Given the description of an element on the screen output the (x, y) to click on. 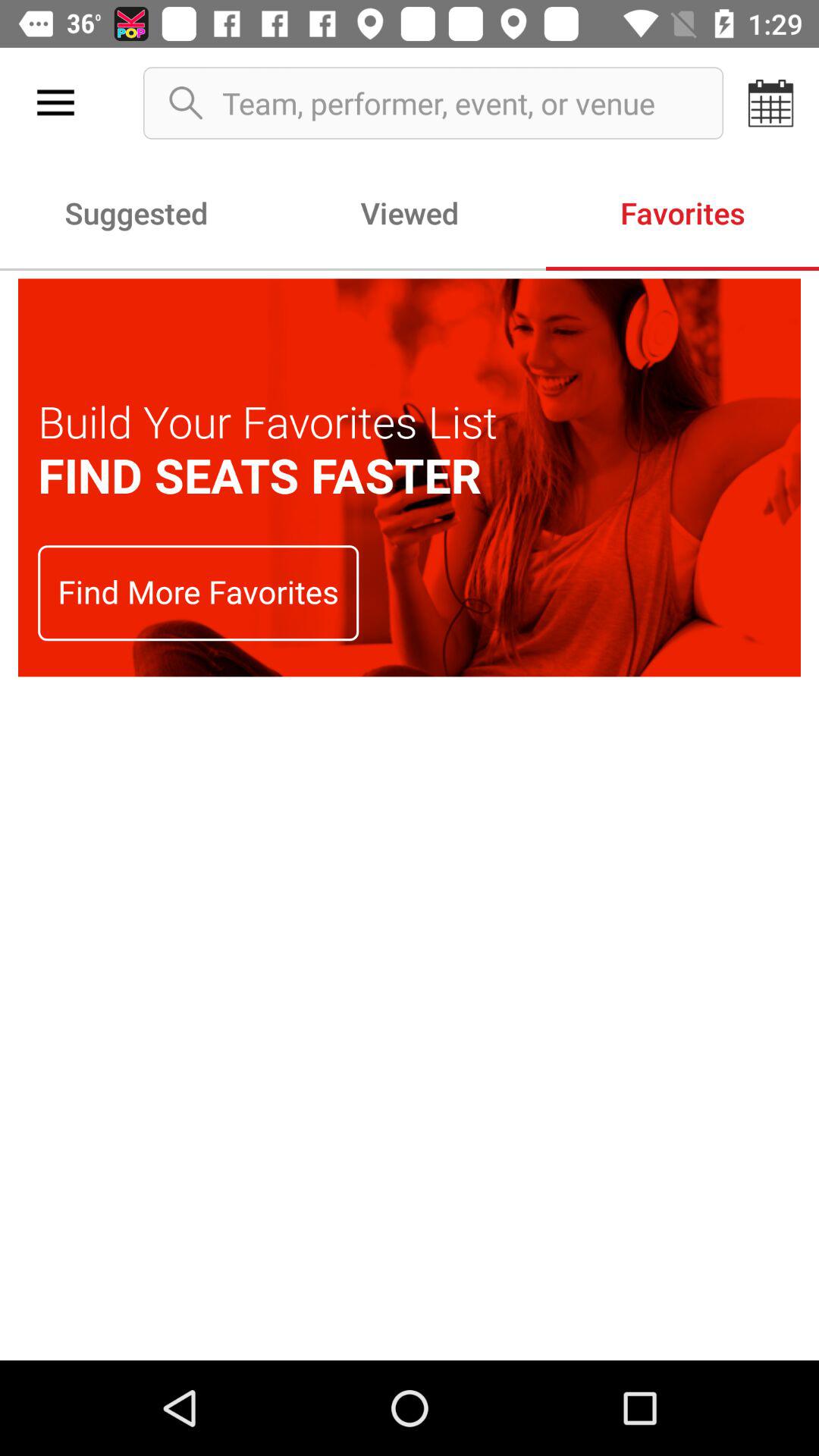
choose viewed item (409, 212)
